Given the description of an element on the screen output the (x, y) to click on. 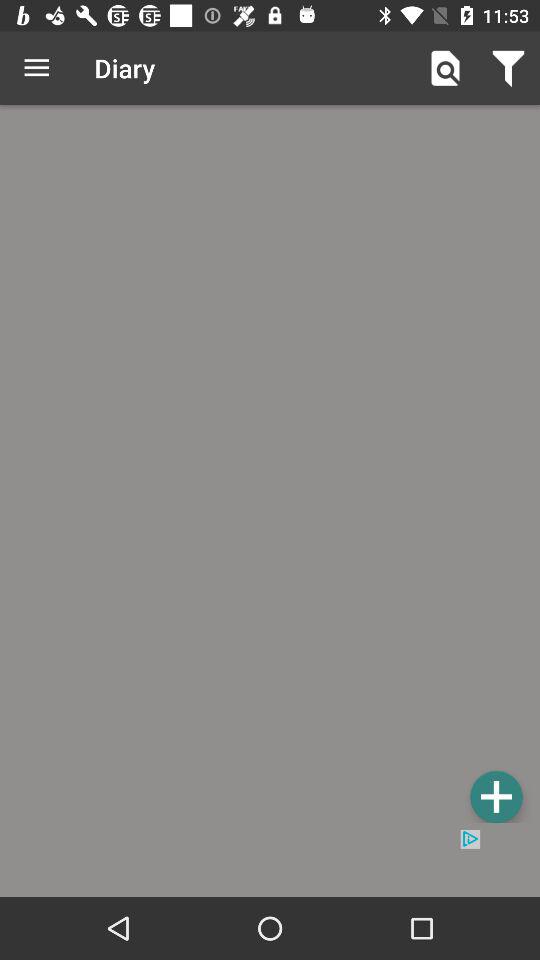
tap the icon at the bottom right corner (496, 796)
